Given the description of an element on the screen output the (x, y) to click on. 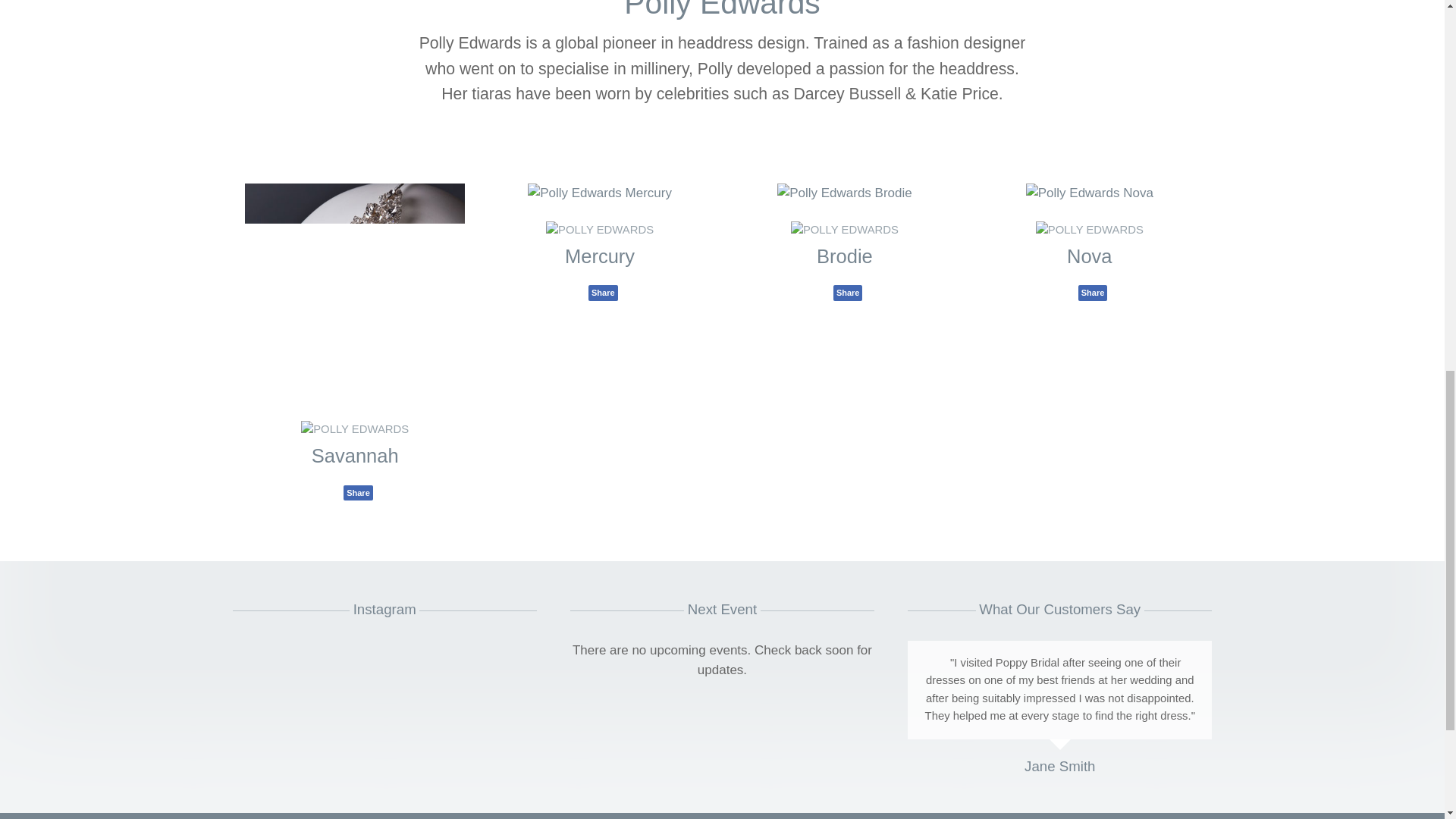
Savannah (354, 455)
Mercury (599, 255)
Share (602, 292)
Brodie (844, 255)
Share (357, 492)
